Given the description of an element on the screen output the (x, y) to click on. 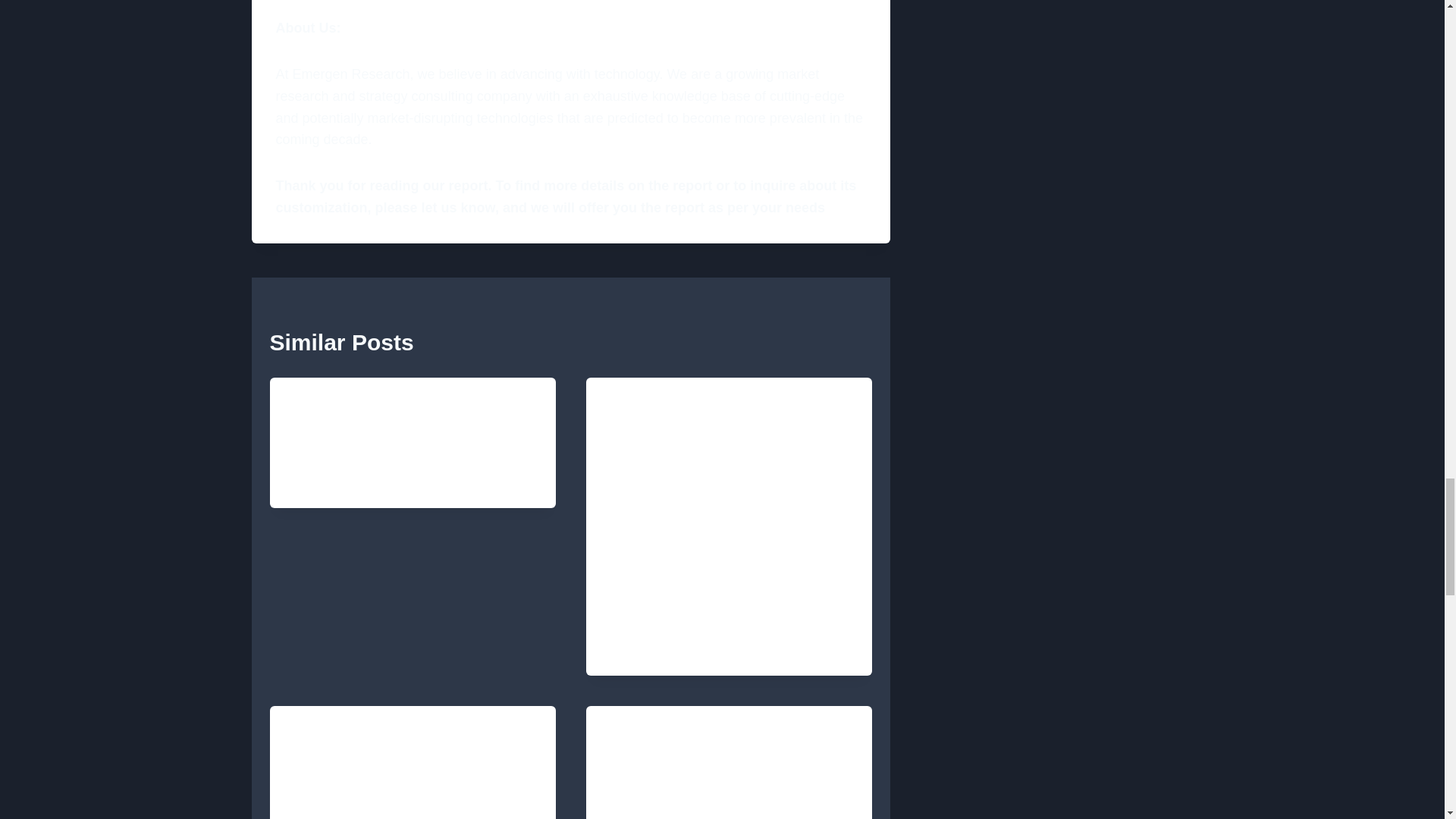
Five Industries Changing With The Help Of Devops (729, 762)
Advantages Of Free Plagiarism Checkers Online (729, 472)
Advantages Of Free Plagiarism Checkers Online (722, 614)
